Given the description of an element on the screen output the (x, y) to click on. 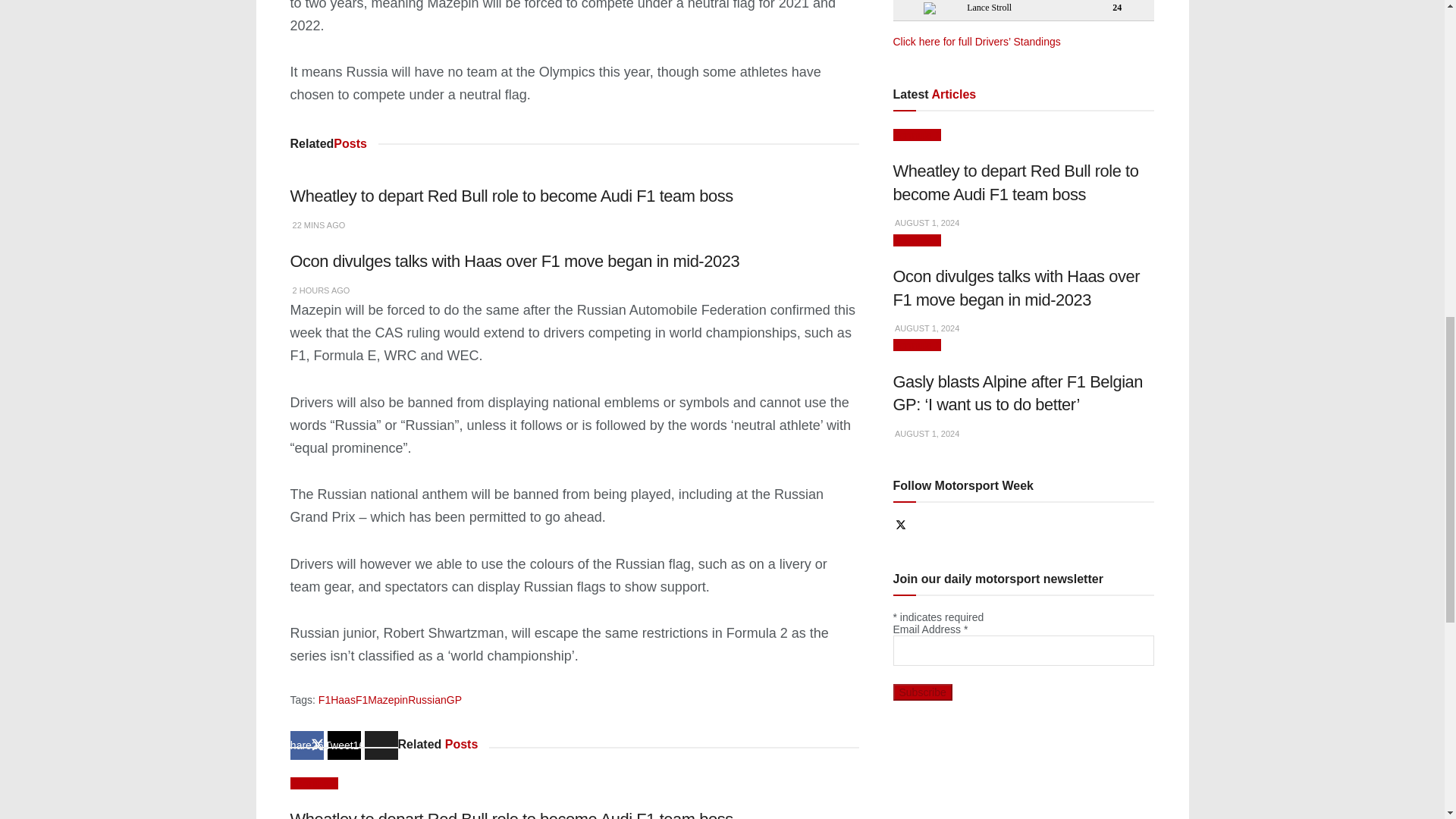
Subscribe (922, 692)
